Given the description of an element on the screen output the (x, y) to click on. 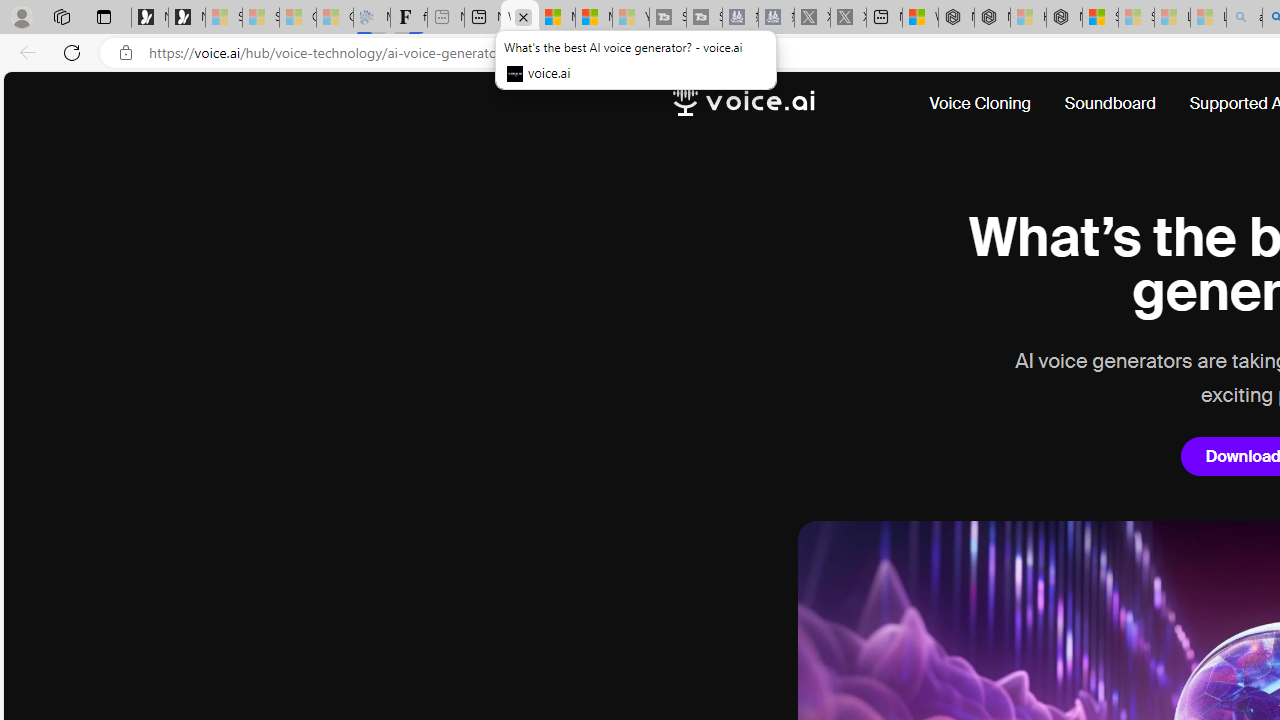
Soundboard (1110, 103)
